Given the description of an element on the screen output the (x, y) to click on. 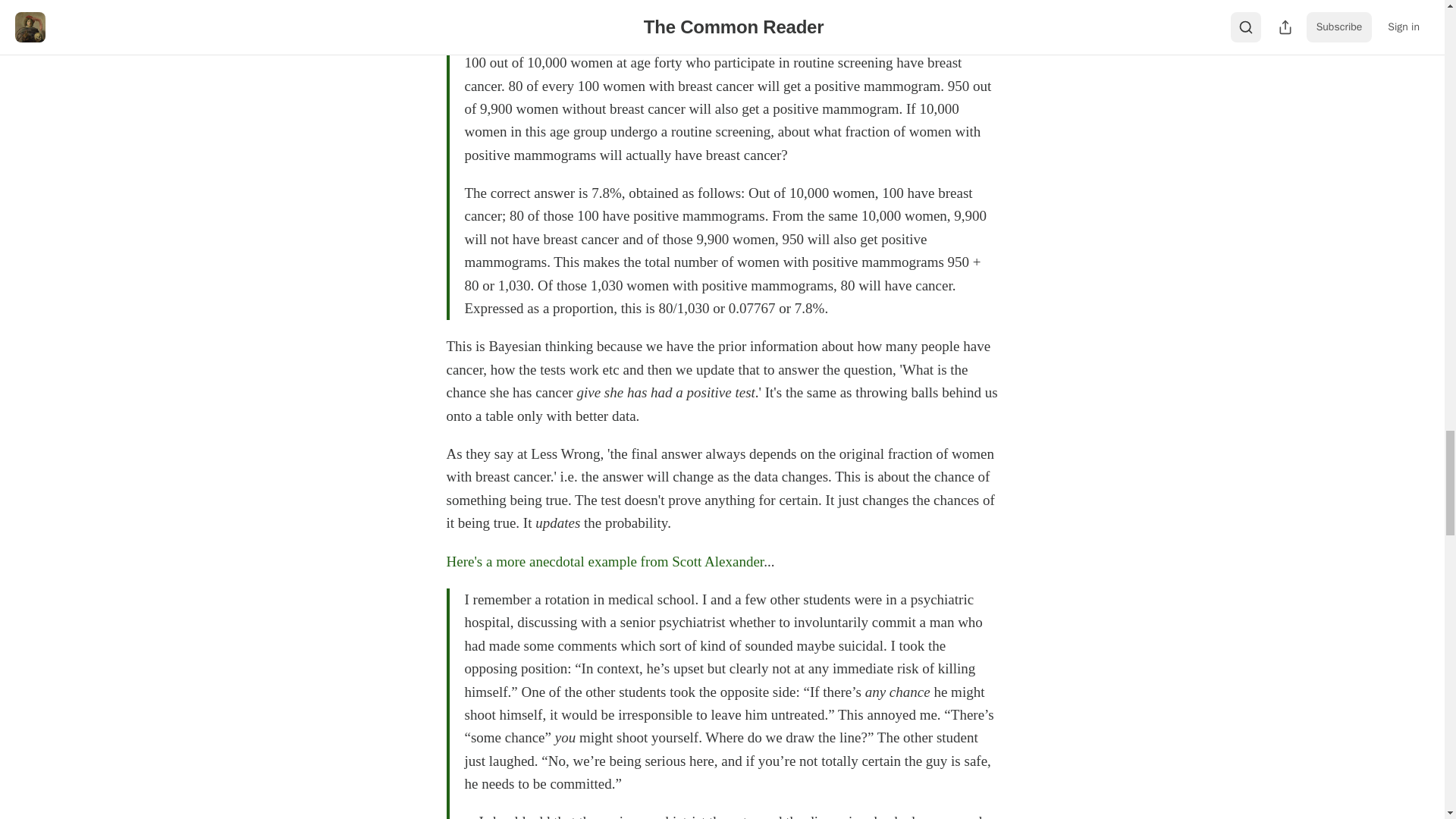
Less Wrong (641, 24)
Here's a more anecdotal example from Scott Alexander (603, 561)
